Given the description of an element on the screen output the (x, y) to click on. 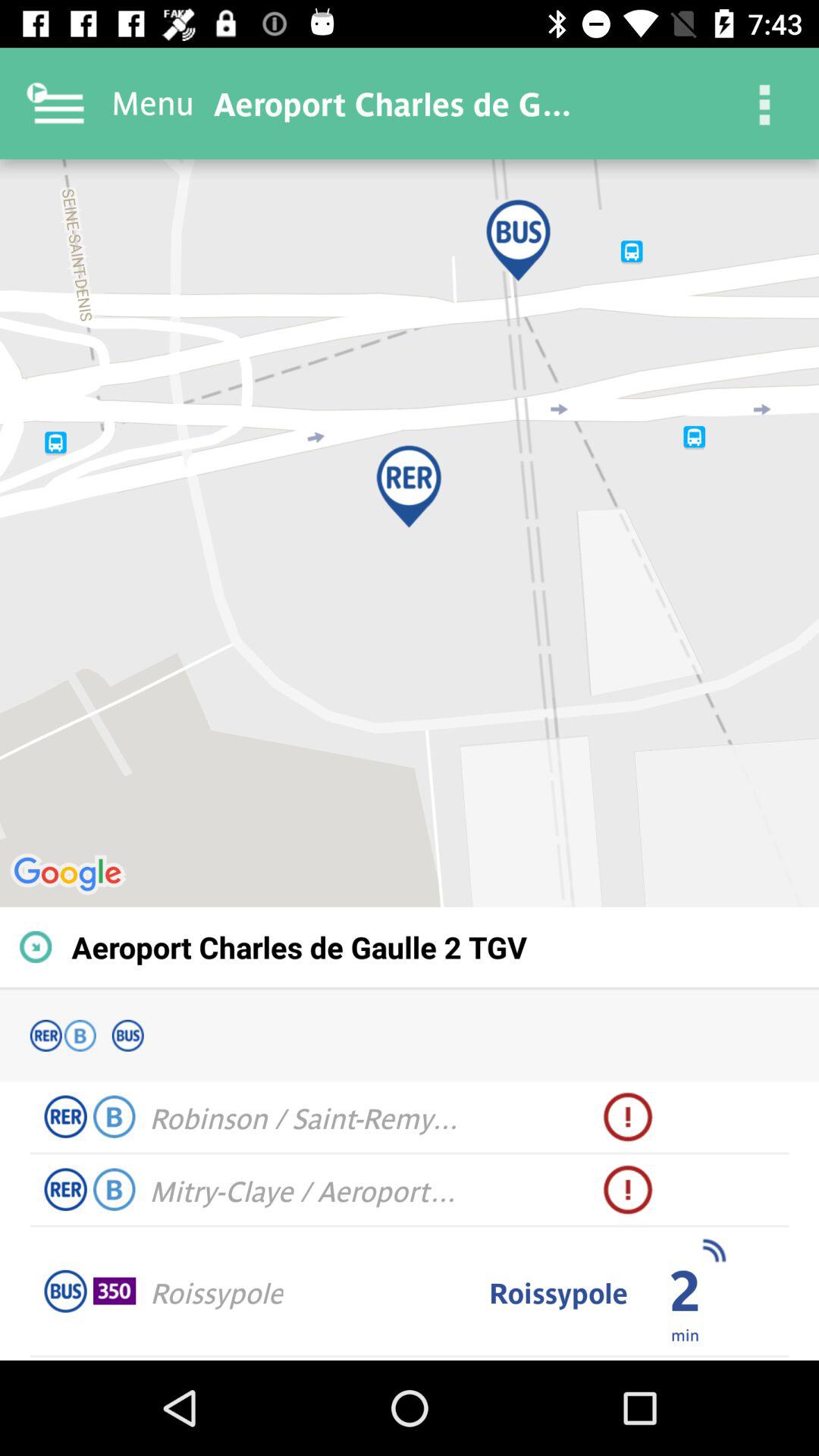
choose item to the right of mitry claye aeroport (627, 1189)
